Given the description of an element on the screen output the (x, y) to click on. 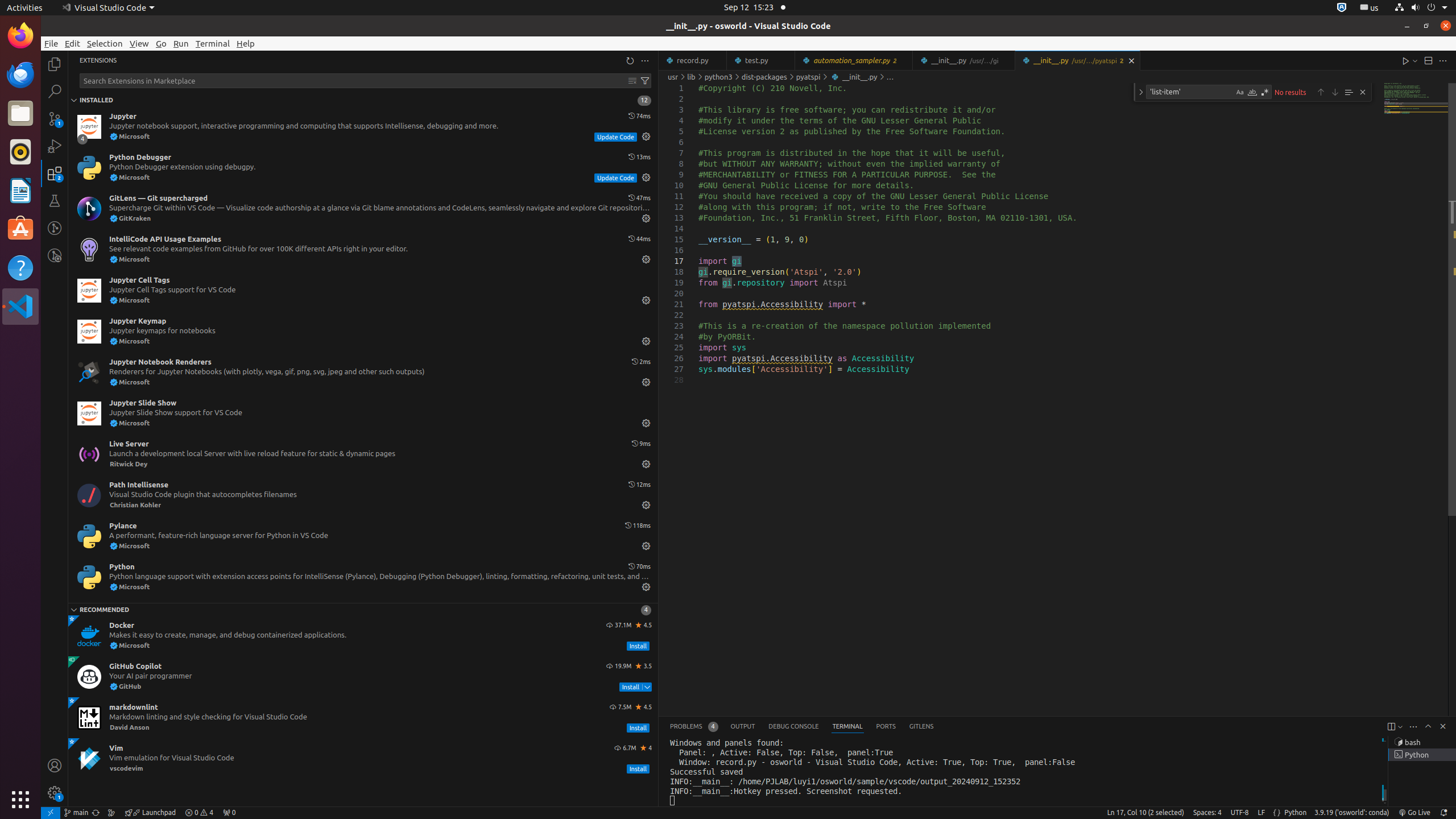
Toggle Replace Element type: push-button (1140, 92)
Python Element type: push-button (1295, 812)
New Terminal (Ctrl+Shift+`) [Alt] Split Terminal (Ctrl+Shift+5) Element type: push-button (1390, 726)
